Given the description of an element on the screen output the (x, y) to click on. 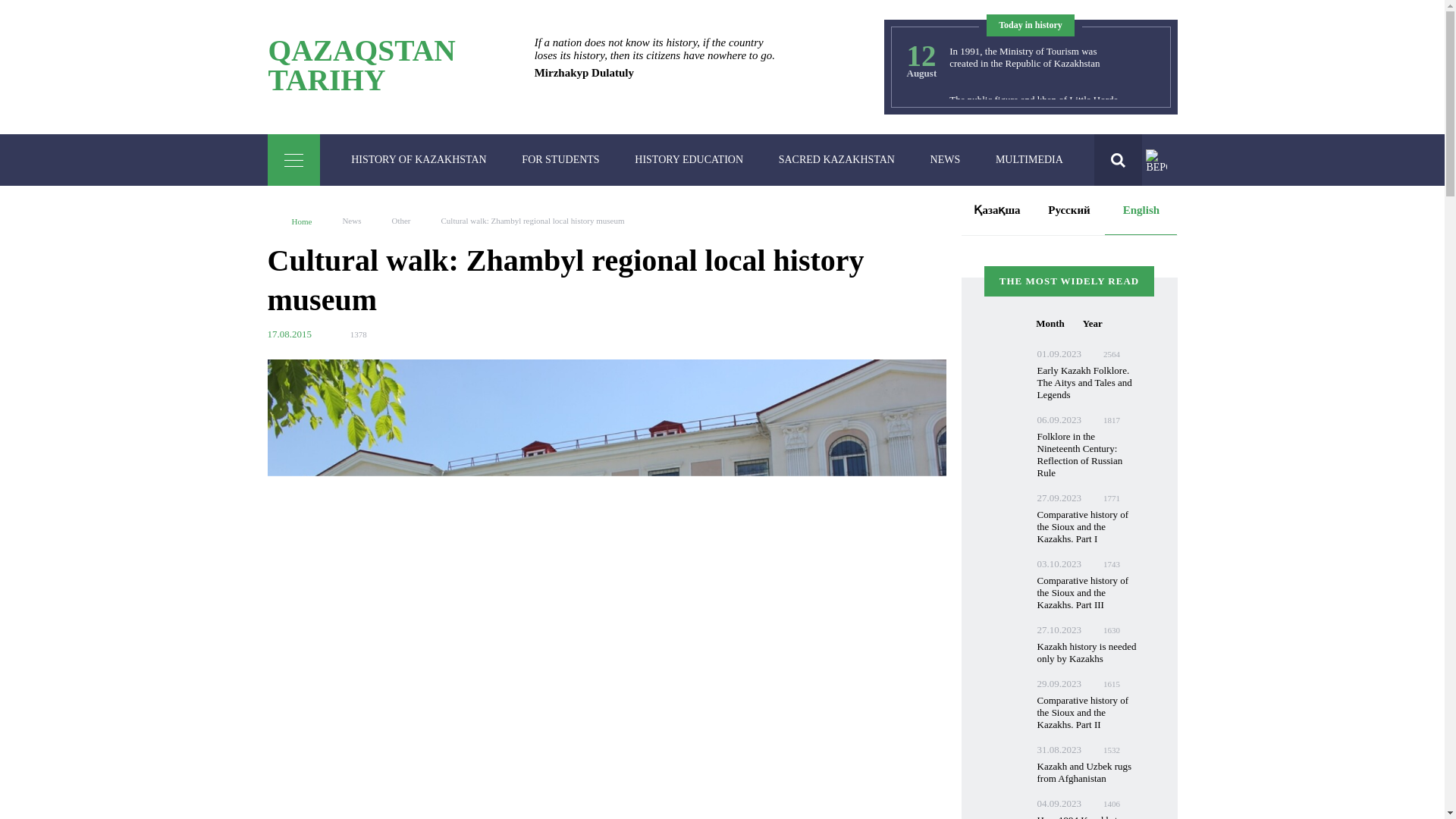
FOR STUDENTS (560, 159)
MULTIMEDIA (1029, 159)
HISTORY OF KAZAKHSTAN (418, 159)
HISTORY EDUCATION (688, 159)
SACRED KAZAKHSTAN (836, 159)
Cultural walk: Zhambyl regional local history museum (361, 65)
